Given the description of an element on the screen output the (x, y) to click on. 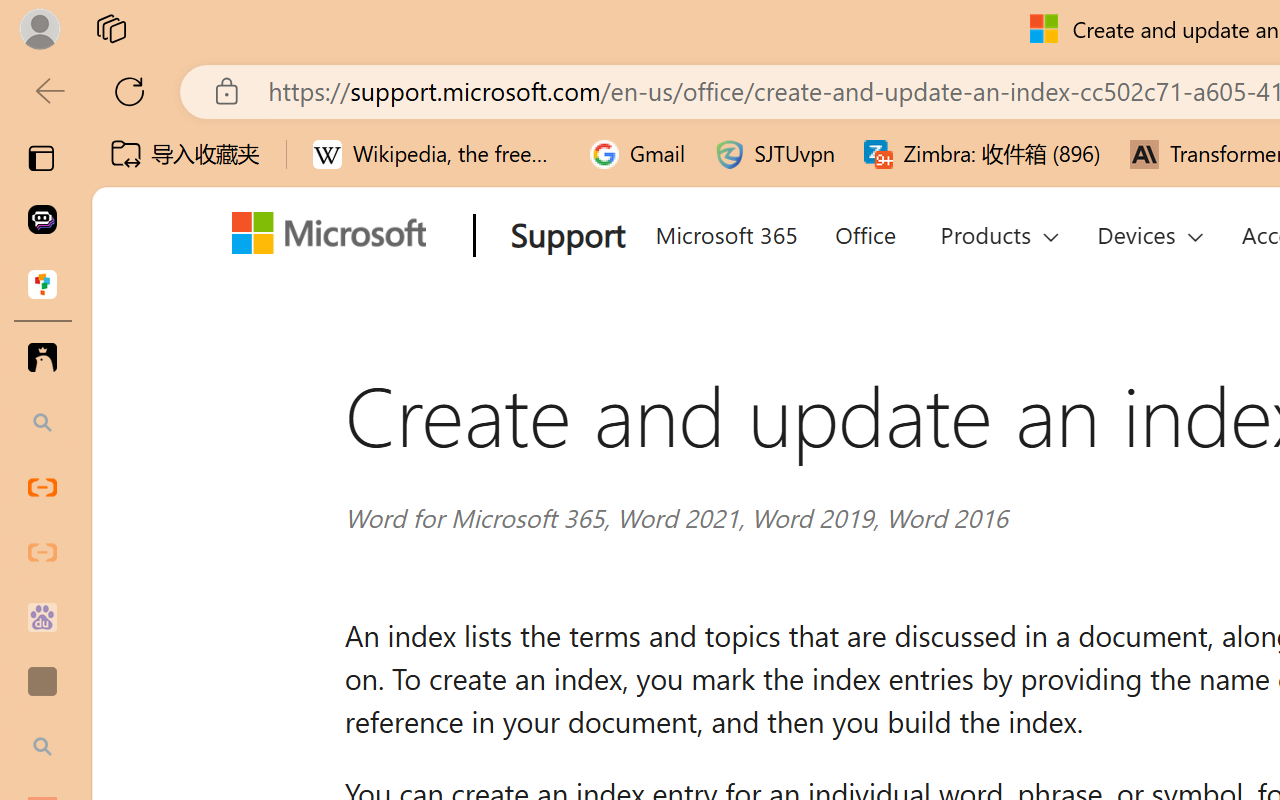
Gmail (637, 154)
Microsoft (335, 237)
Wikipedia, the free encyclopedia (437, 154)
Support (563, 237)
Microsoft 365 (725, 231)
Microsoft 365 (725, 232)
